Given the description of an element on the screen output the (x, y) to click on. 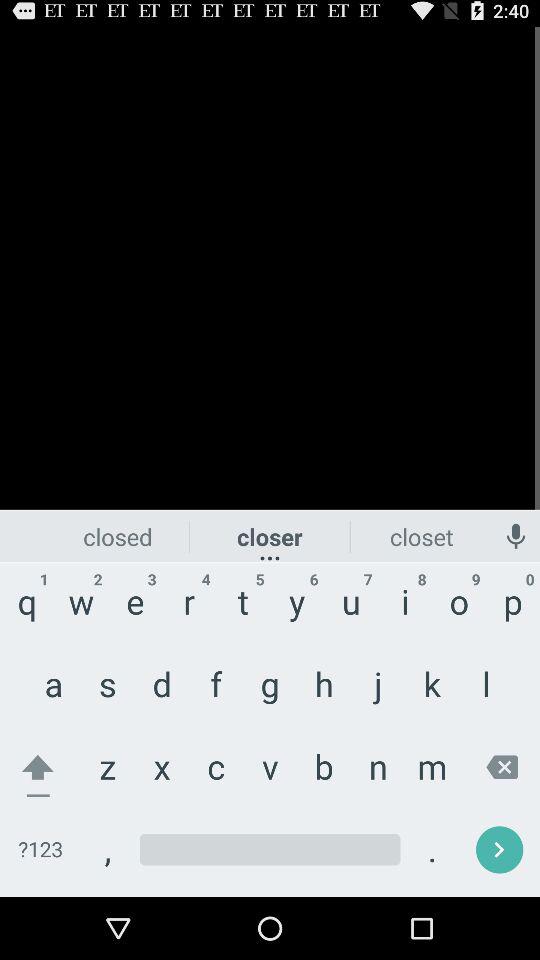
search the site (270, 850)
